Given the description of an element on the screen output the (x, y) to click on. 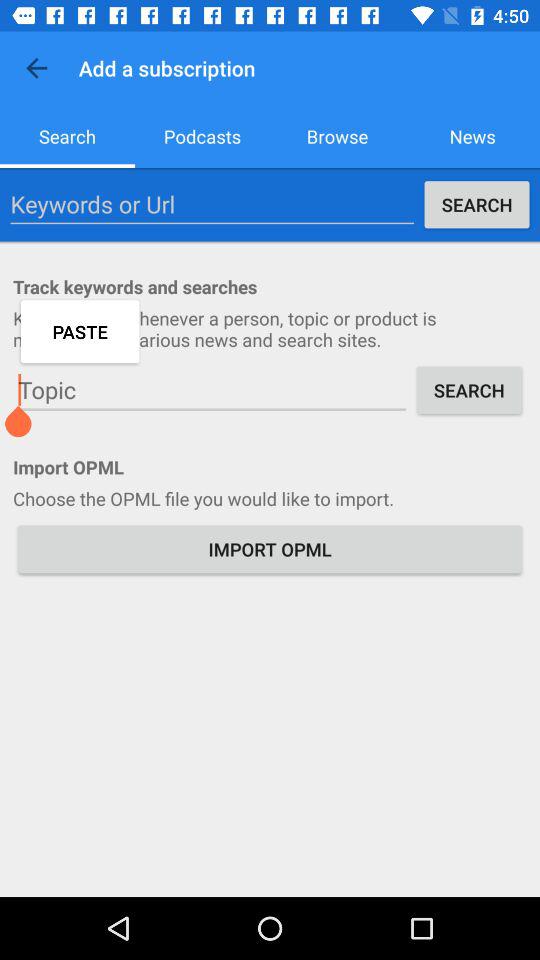
go to search (212, 390)
